Given the description of an element on the screen output the (x, y) to click on. 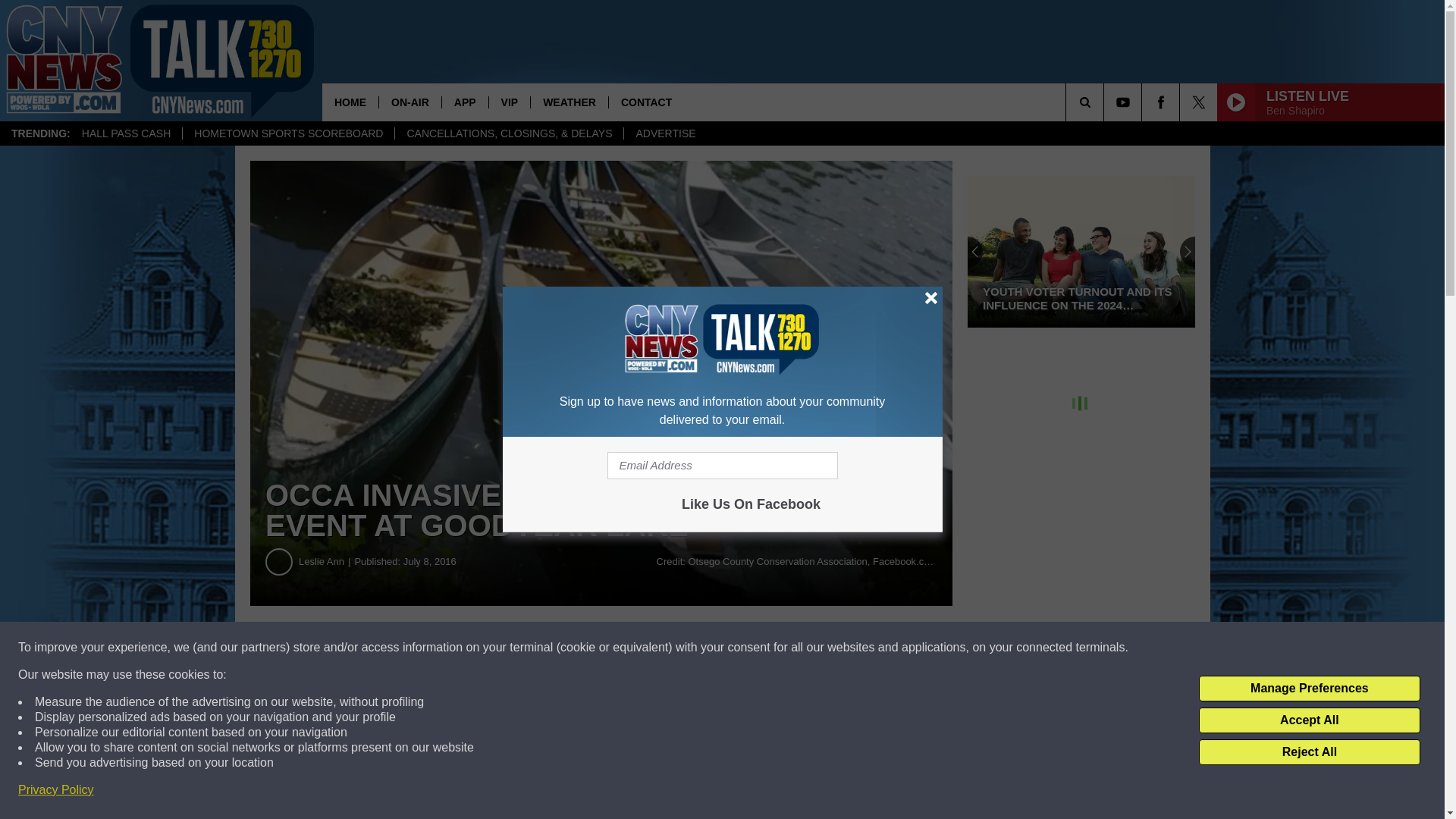
Share on Twitter (460, 647)
APP (464, 102)
HOME (349, 102)
Reject All (1309, 751)
SEARCH (1106, 102)
HOMETOWN SPORTS SCOREBOARD (288, 133)
HALL PASS CASH (126, 133)
WEATHER (568, 102)
Share on Facebook (741, 647)
ADVERTISE (664, 133)
ON-AIR (409, 102)
Privacy Policy (55, 789)
Accept All (1309, 720)
Email Address (722, 465)
Manage Preferences (1309, 688)
